Given the description of an element on the screen output the (x, y) to click on. 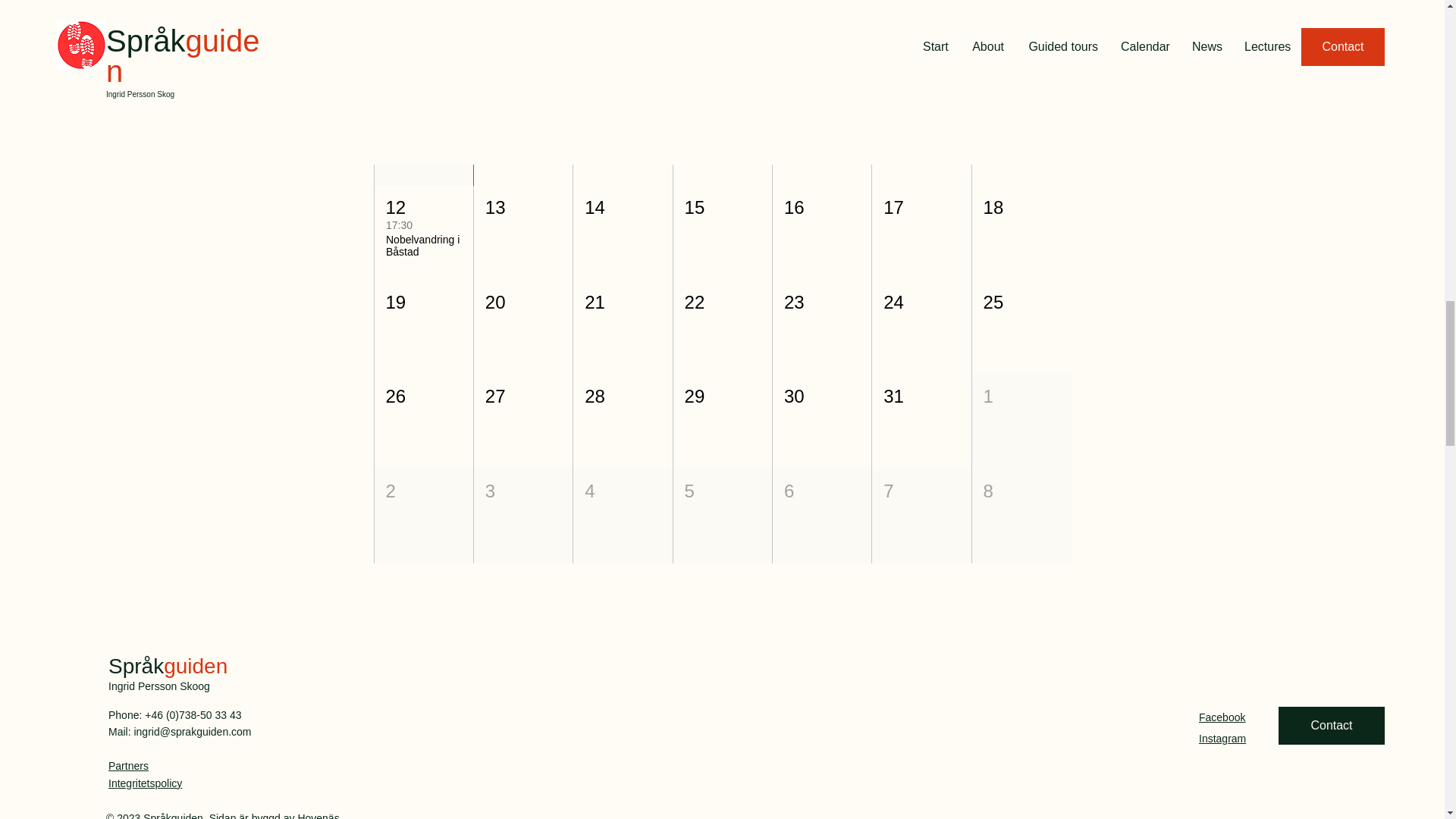
Integritetspolicy (144, 782)
Partners (127, 766)
Facebook (1221, 717)
Ingrid Persson Skoog (158, 686)
guiden (195, 666)
Instagram (1222, 738)
Contact (1331, 725)
